Given the description of an element on the screen output the (x, y) to click on. 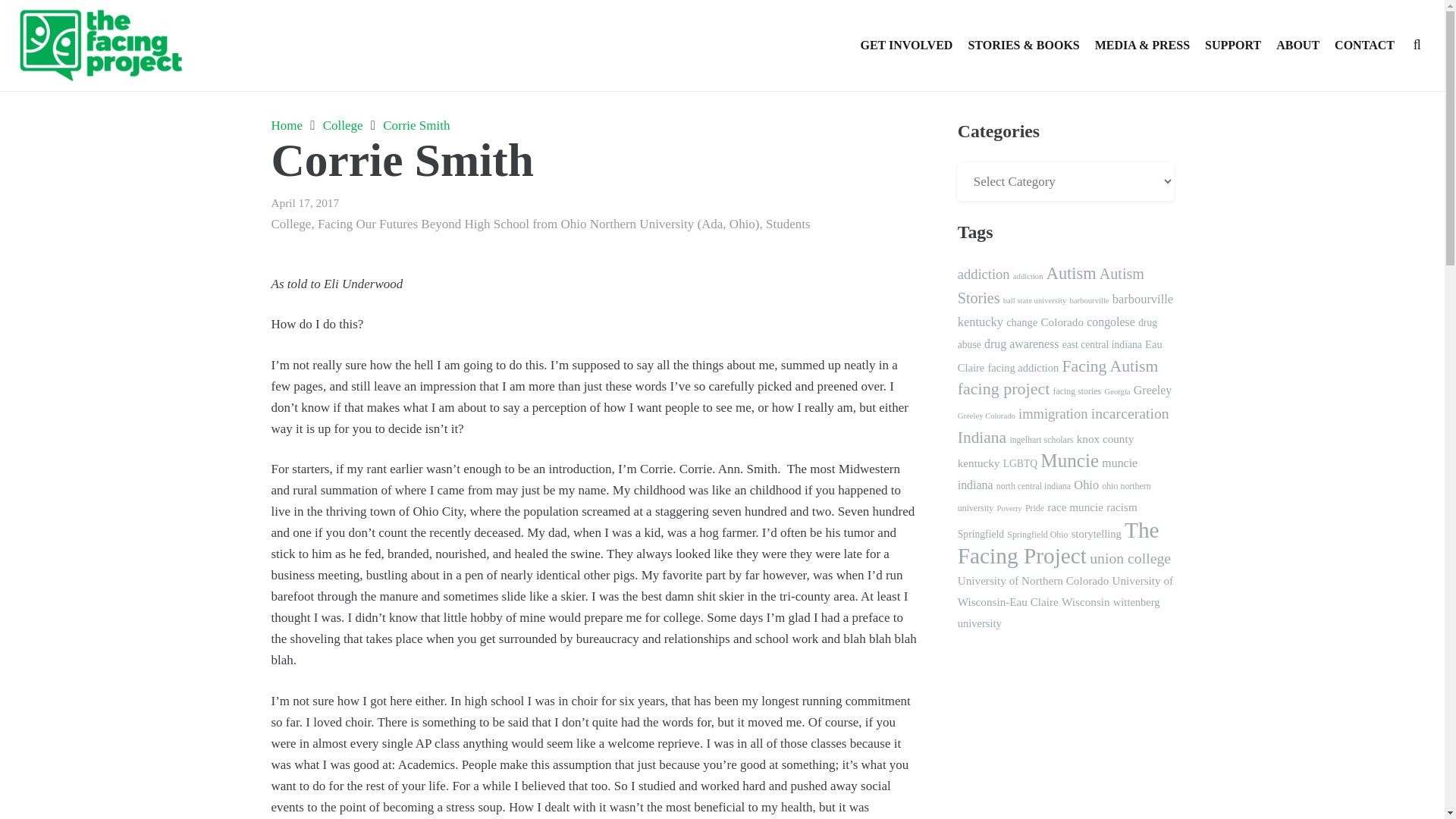
Autism (1071, 272)
College (342, 124)
GET INVOLVED (905, 45)
Students (787, 223)
ball state university (1034, 300)
Home (286, 124)
College (290, 223)
Autism Stories (1051, 285)
addiction (984, 273)
Corrie Smith (415, 124)
